Given the description of an element on the screen output the (x, y) to click on. 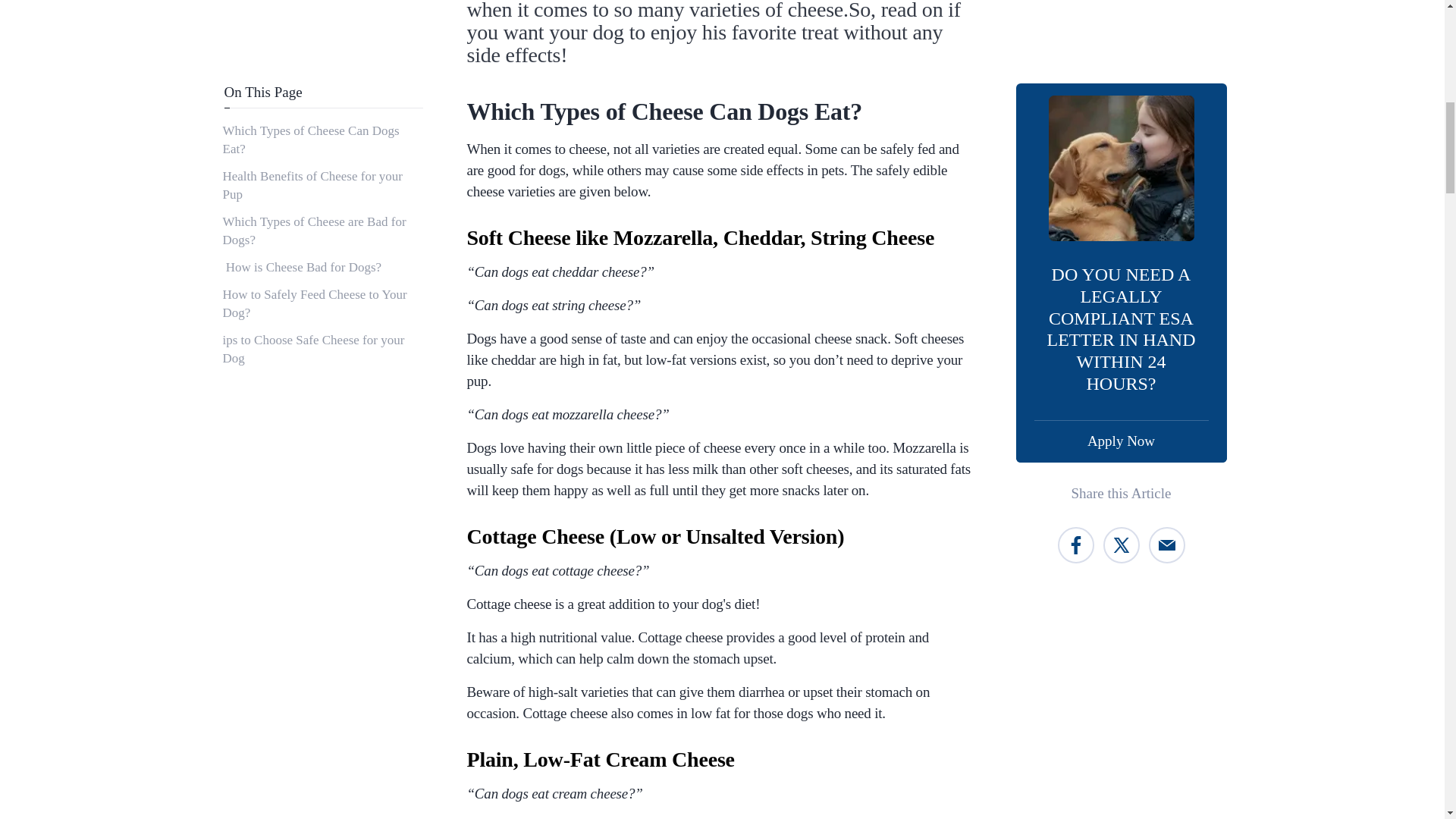
Apply Now (1121, 128)
ips to Choose Safe Cheese for your Dog (321, 36)
How to Safely Feed Cheese to Your Dog? (321, 7)
ips to Choose Safe Cheese for your Dog (321, 36)
How to Safely Feed Cheese to Your Dog? (321, 7)
